Given the description of an element on the screen output the (x, y) to click on. 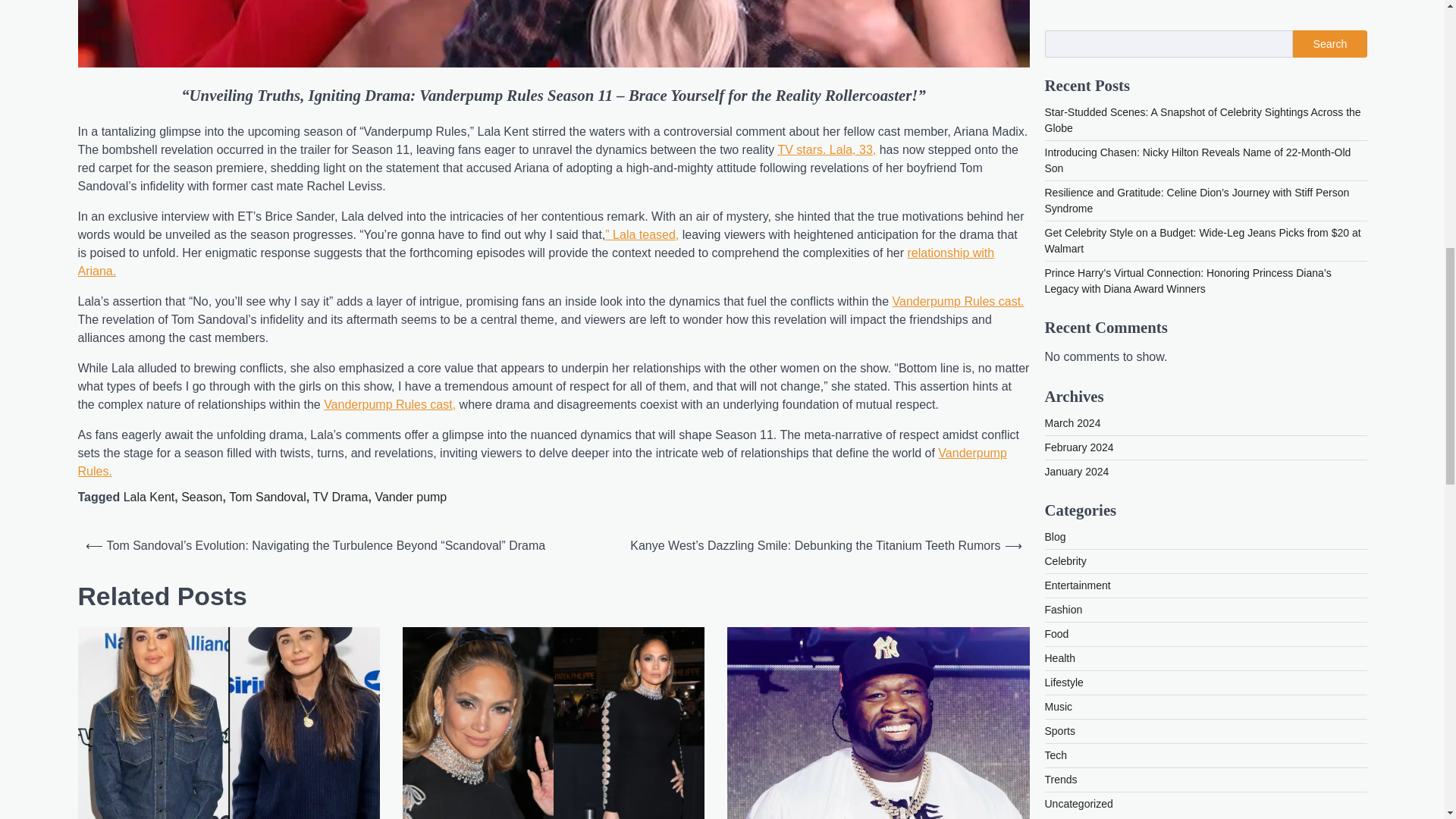
Vanderpump Rules cast, (389, 404)
TV Drama (340, 496)
relationship with Ariana. (535, 261)
Vander pump (410, 496)
Season (201, 496)
Tom Sandoval (266, 496)
Vanderpump Rules. (541, 461)
Vanderpump Rules cast. (958, 300)
Lala Kent (148, 496)
TV stars. Lala, 33, (826, 149)
